Given the description of an element on the screen output the (x, y) to click on. 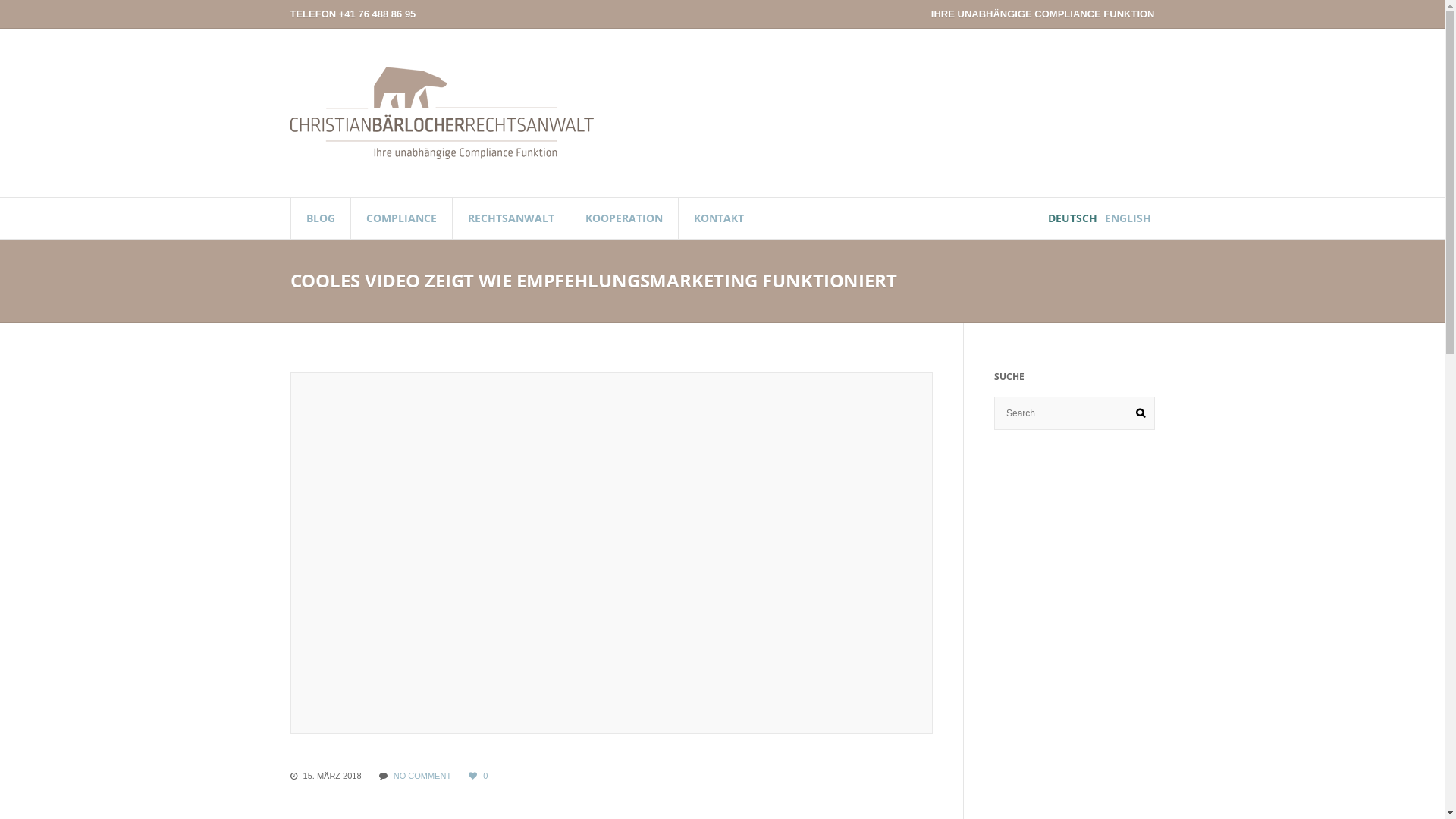
Givers Gain - BNI Core Values Contest Winner Element type: hover (611, 553)
RECHTSANWALT Element type: text (510, 217)
KOOPERATION Element type: text (622, 217)
0 Element type: text (477, 775)
NO COMMENT Element type: text (422, 775)
DEUTSCH Element type: text (1071, 217)
COMPLIANCE Element type: text (400, 217)
BLOG Element type: text (319, 217)
KONTAKT Element type: text (718, 217)
ENGLISH Element type: text (1127, 217)
